Given the description of an element on the screen output the (x, y) to click on. 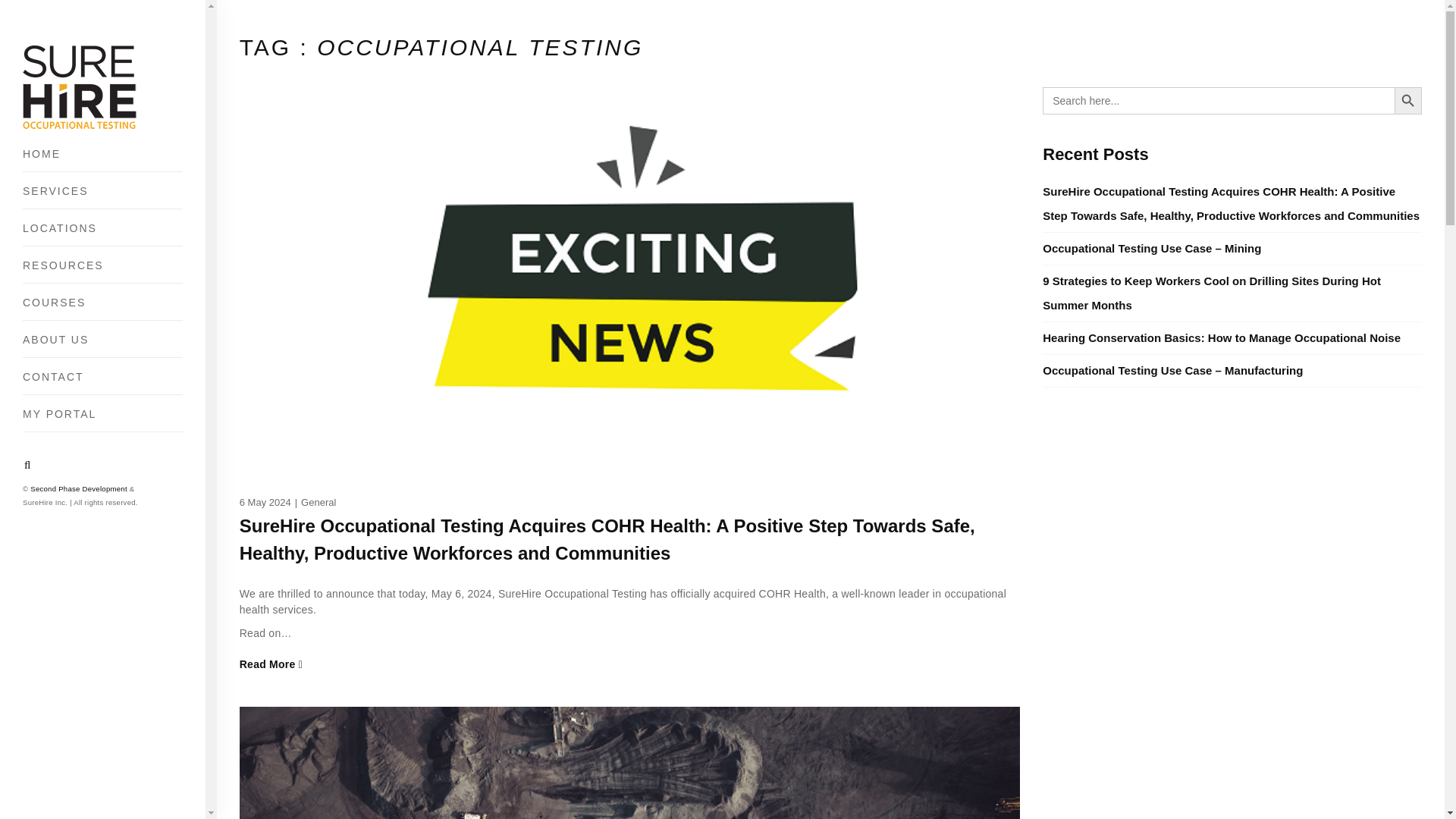
LOCATIONS (103, 233)
Read More (630, 664)
MY PORTAL (103, 419)
CONTACT (103, 381)
SERVICES (103, 196)
HOME (103, 158)
General (318, 501)
Second Phase Development (79, 488)
ABOUT US (103, 344)
COURSES (103, 307)
